Given the description of an element on the screen output the (x, y) to click on. 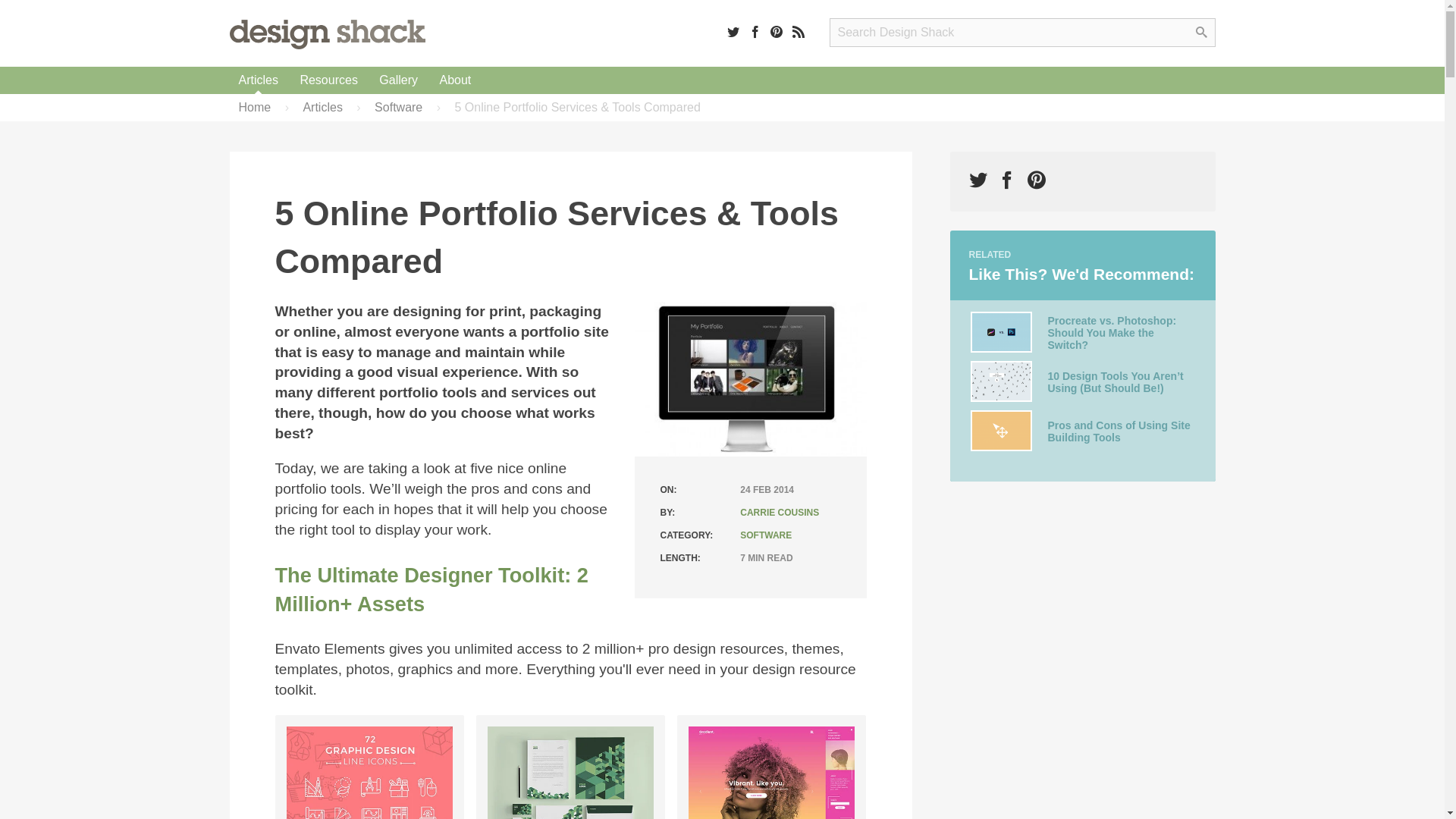
Search Design Shack (1022, 32)
Facebook (755, 31)
Search Design Shack (1022, 32)
Design Shack (326, 34)
Articles (257, 80)
Pinterest (776, 31)
RSS Feed (797, 31)
Articles (257, 80)
